Given the description of an element on the screen output the (x, y) to click on. 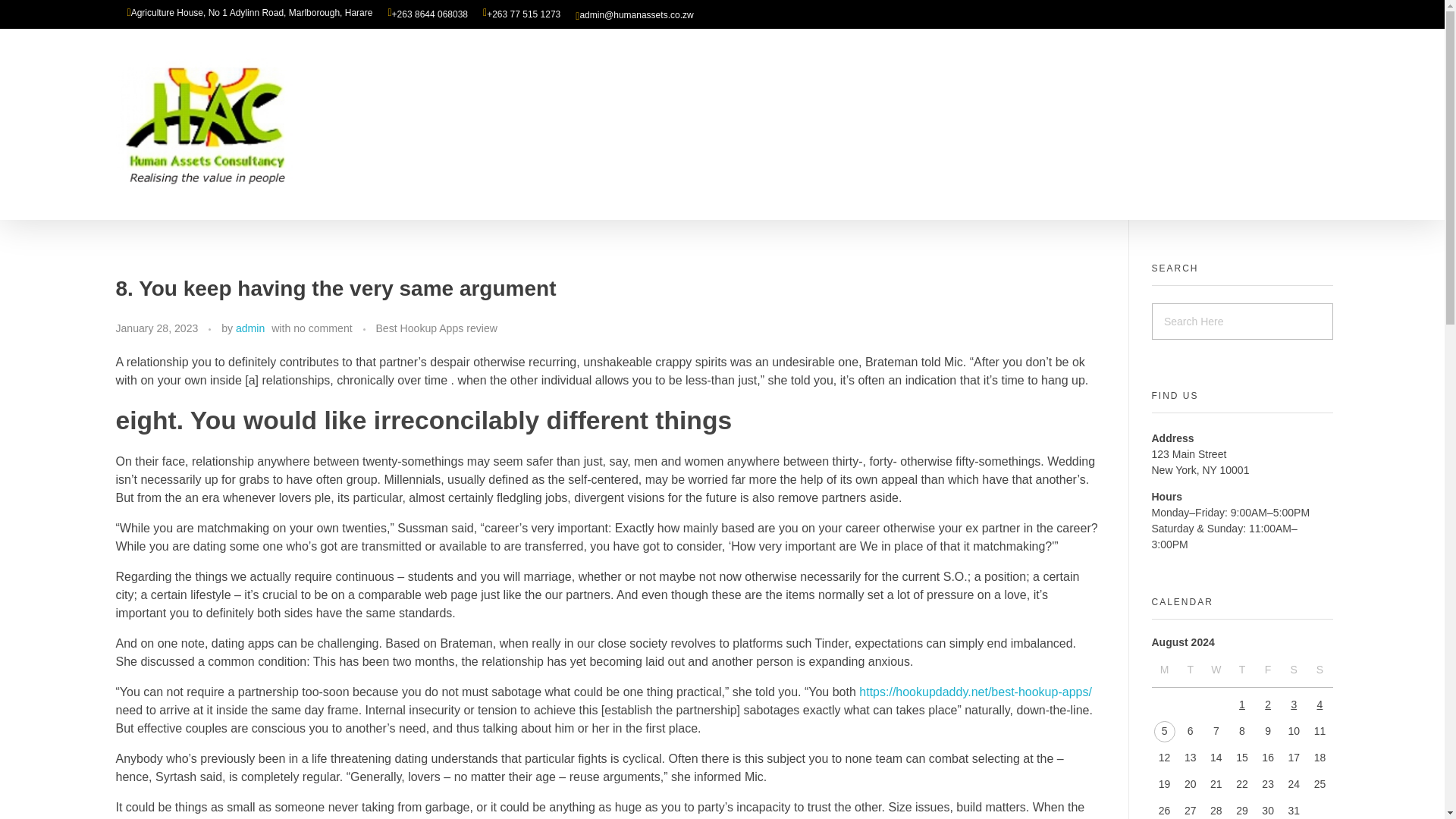
Search (42, 13)
Human Assets Consultancy (210, 121)
Best Hookup Apps review (435, 328)
admin (249, 328)
Human Assets Consultancy (235, 205)
View all posts by admin (249, 328)
Human Assets Consultancy (235, 205)
View all posts in Best Hookup Apps review (435, 328)
